Given the description of an element on the screen output the (x, y) to click on. 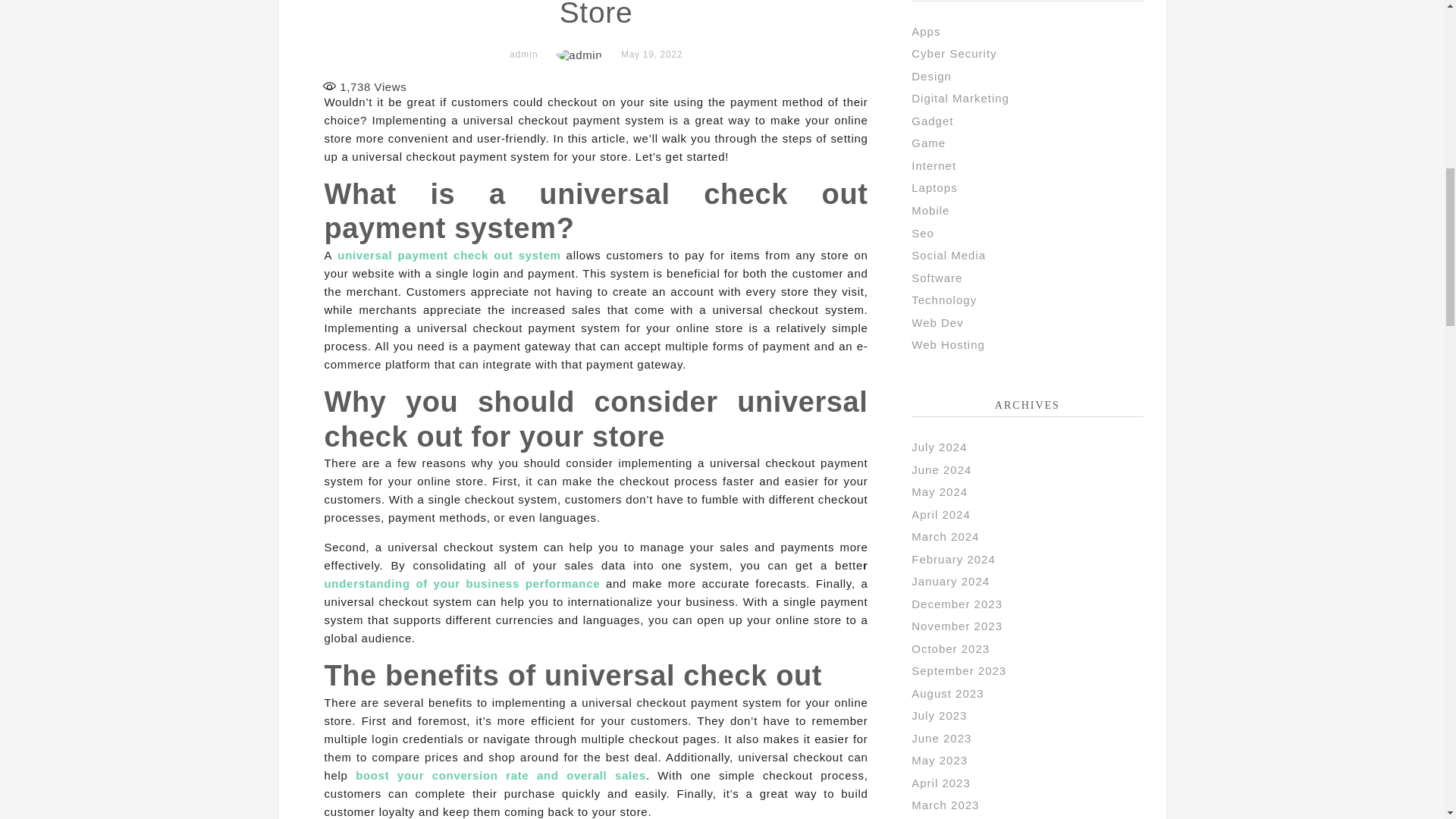
understanding of your business performance (461, 583)
admin (523, 54)
universal payment check out system (448, 254)
boost your conversion rate and overall sales (500, 775)
Posts by admin (523, 54)
